Given the description of an element on the screen output the (x, y) to click on. 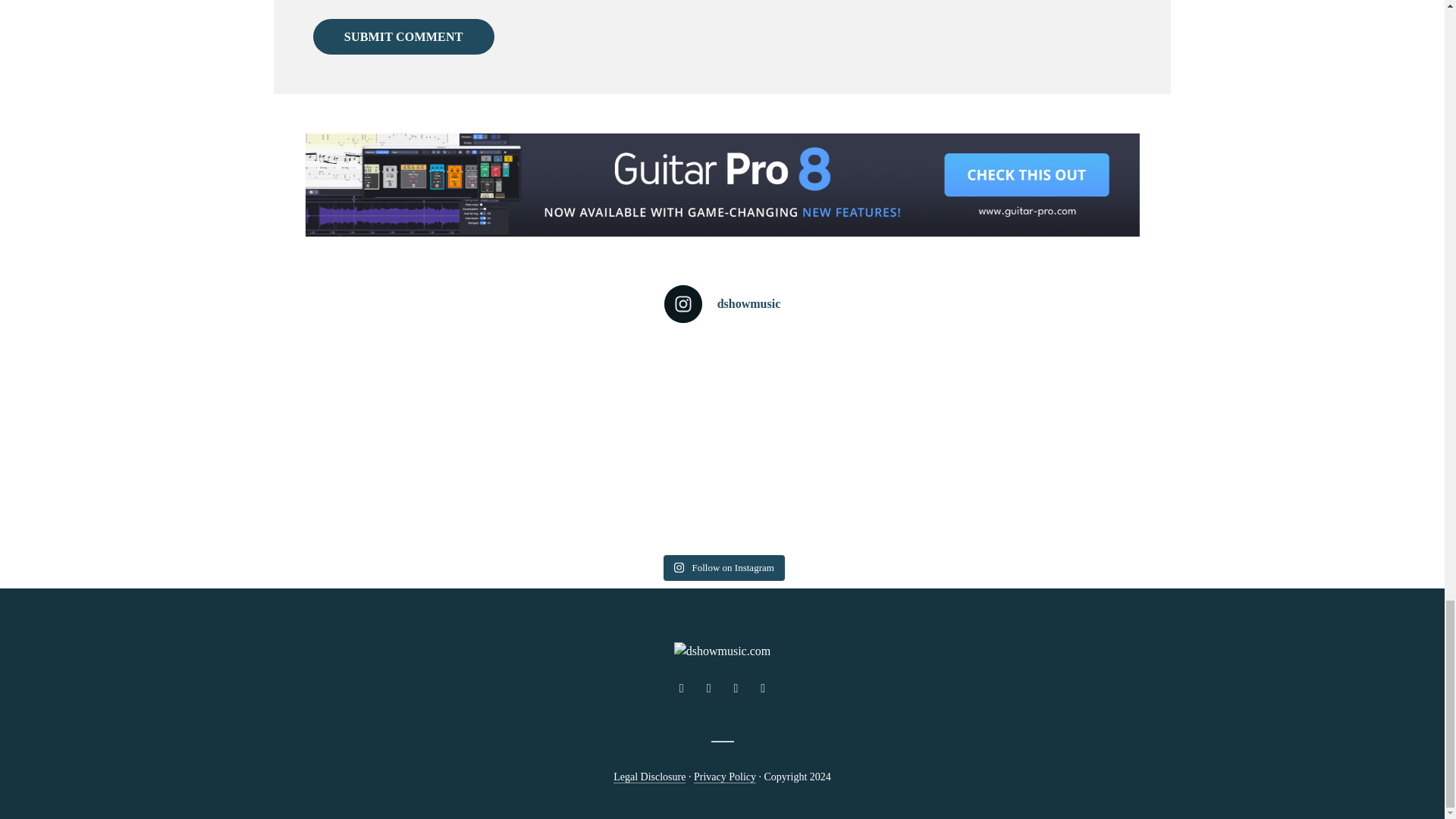
Submit Comment (404, 36)
Guitar Pro 8 - Buy now (721, 183)
